Given the description of an element on the screen output the (x, y) to click on. 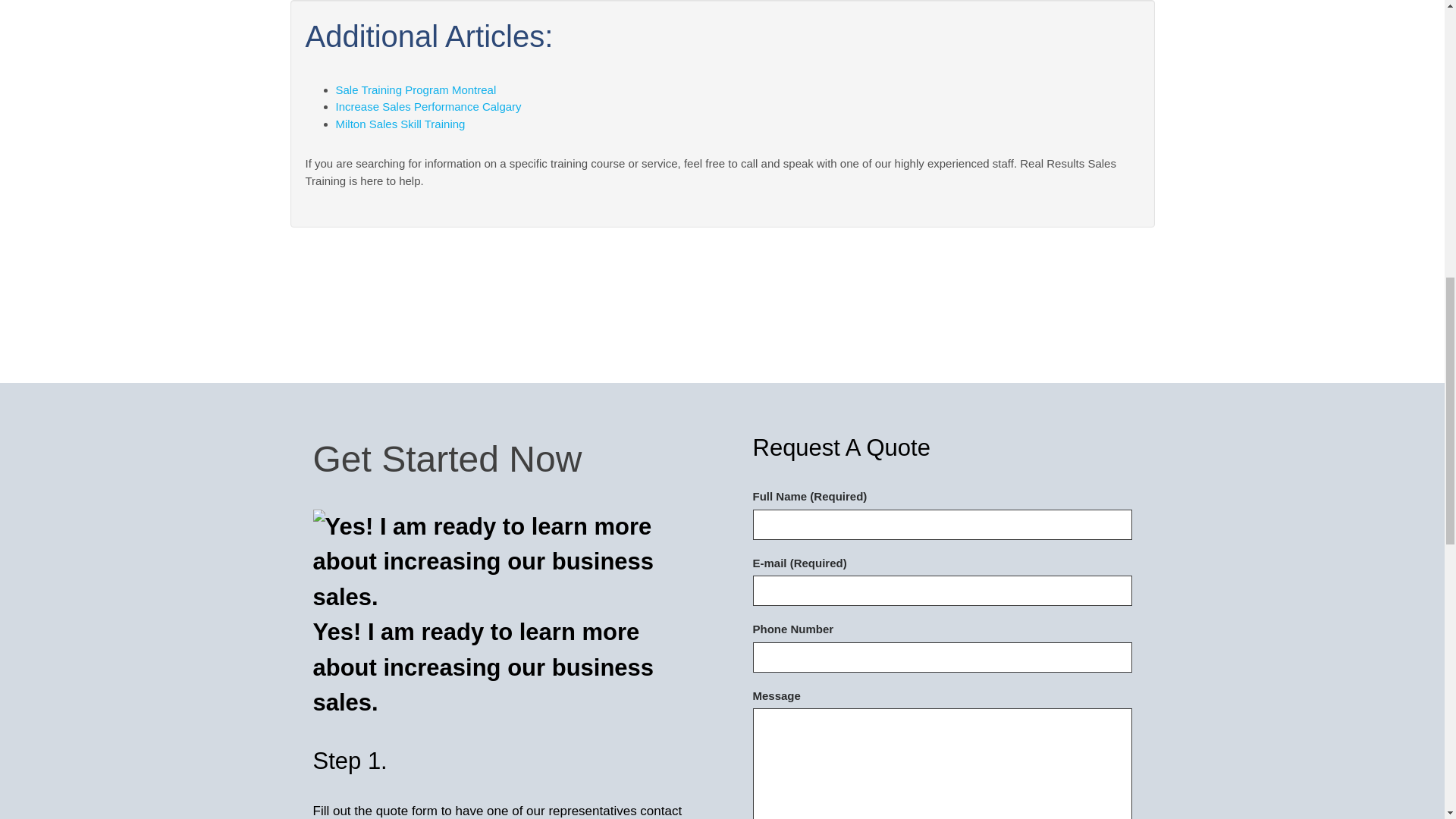
Increase Sales Performance Calgary (427, 106)
Sale Training Program Montreal (415, 89)
Milton Sales Skill Training (399, 123)
